Given the description of an element on the screen output the (x, y) to click on. 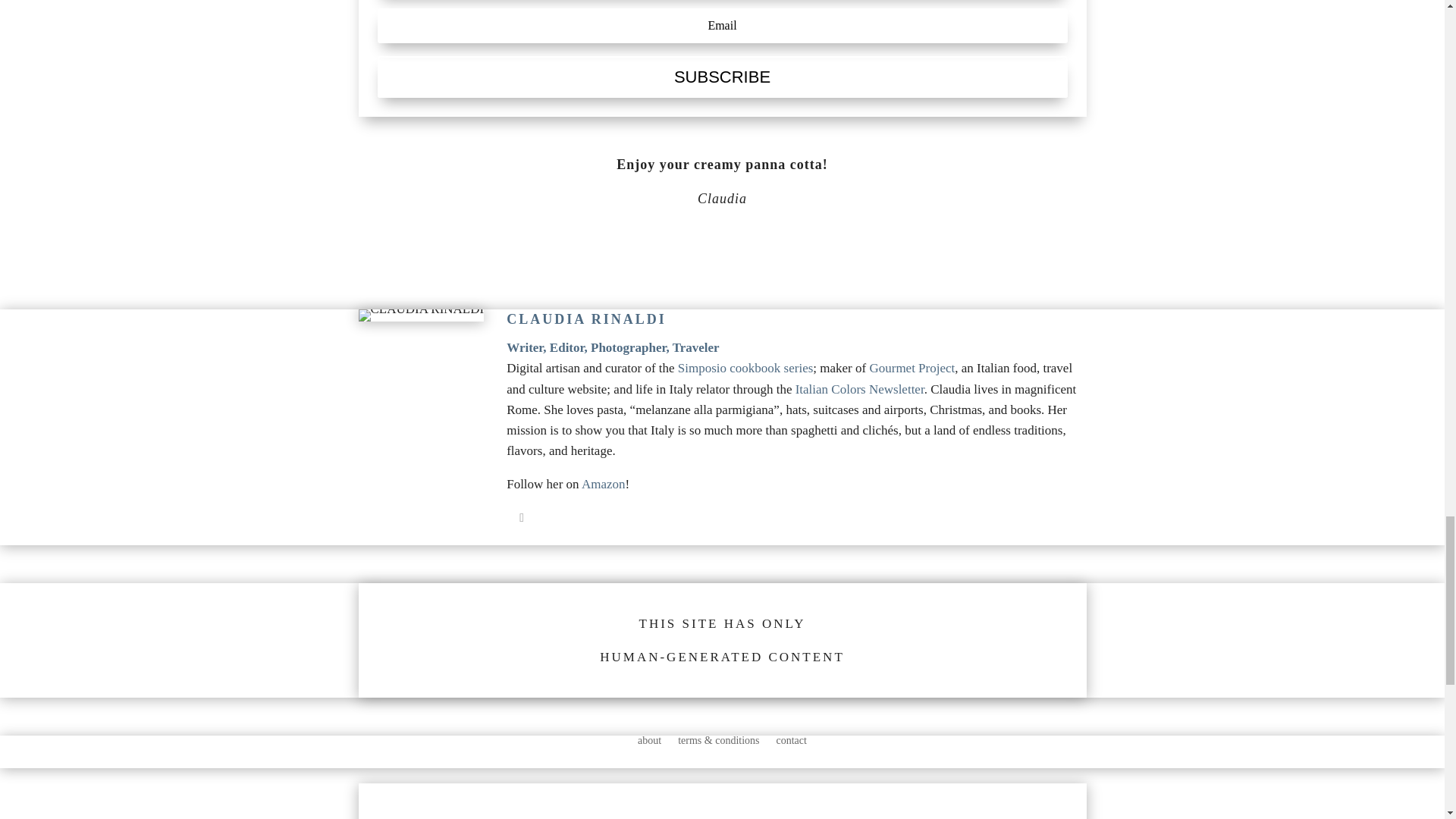
Italian Colors Newsletter (859, 389)
Amazon (603, 483)
Simposio cookbook series (744, 368)
SUBSCRIBE (722, 76)
Gourmet Project (912, 368)
